Given the description of an element on the screen output the (x, y) to click on. 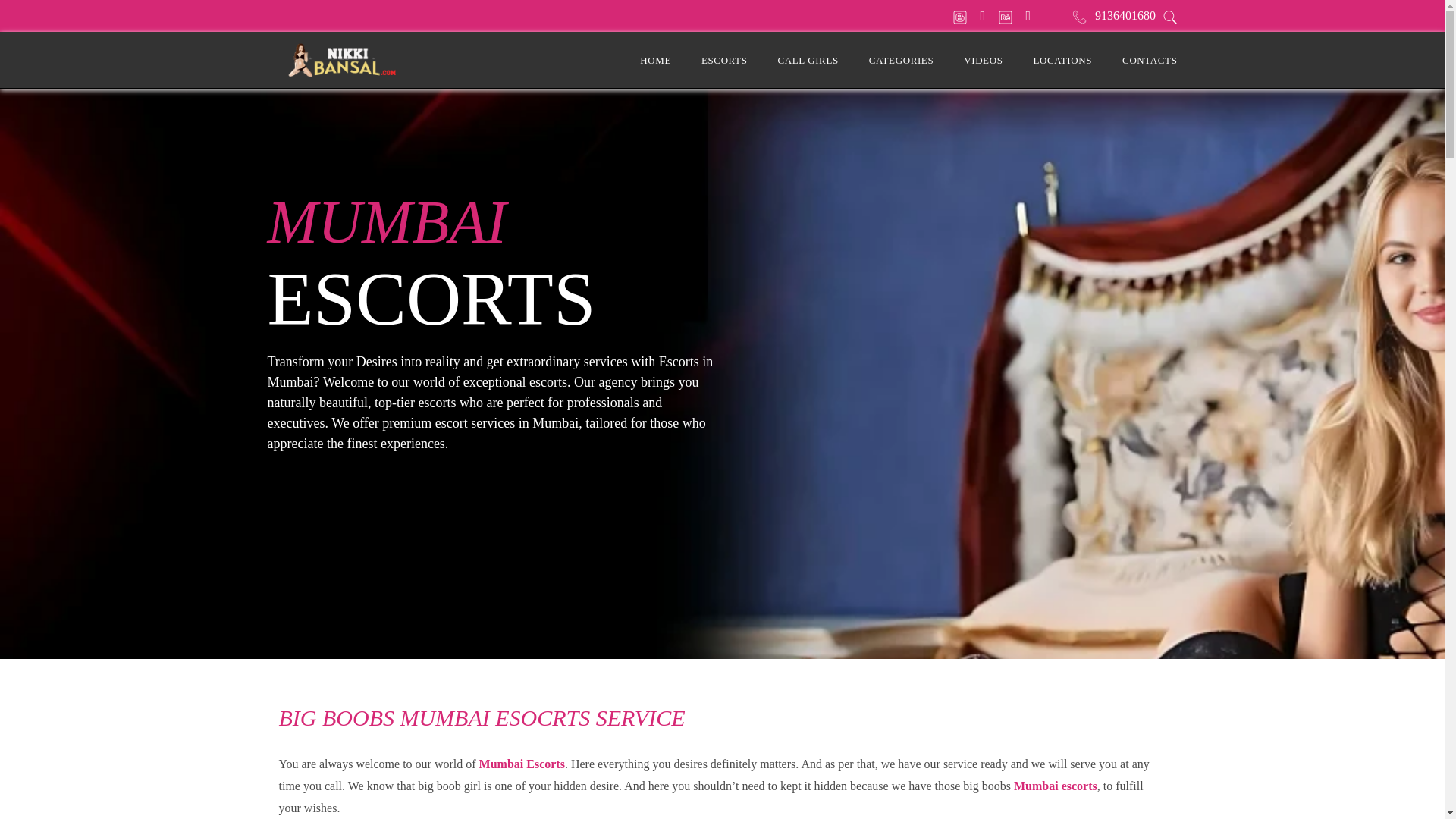
CATEGORIES (901, 59)
Mumbai Escorts (521, 763)
LOCATIONS (1062, 59)
ESCORTS (724, 59)
CONTACTS (1149, 59)
CALL GIRLS (807, 59)
Mumbai escorts (1055, 785)
9136401680 (1125, 15)
VIDEOS (983, 59)
HOME (655, 59)
